Given the description of an element on the screen output the (x, y) to click on. 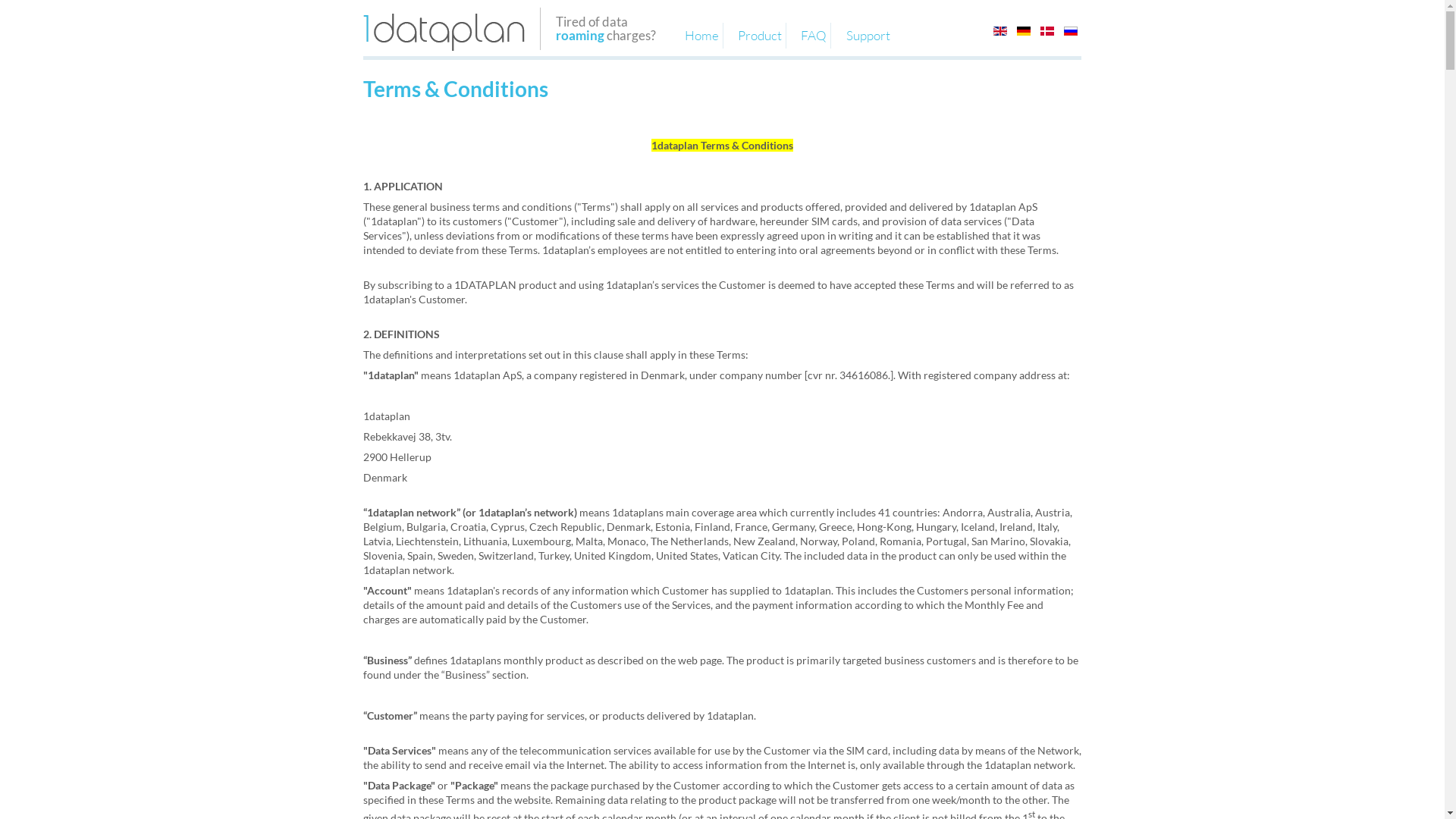
Home Element type: text (701, 35)
Product Element type: text (759, 35)
FAQ Element type: text (813, 35)
Support Element type: text (868, 35)
German Element type: hover (1023, 30)
Danish Element type: hover (1047, 30)
English (UK) Element type: hover (1000, 30)
Russian Element type: hover (1070, 30)
1dataplan Element type: hover (443, 31)
